Given the description of an element on the screen output the (x, y) to click on. 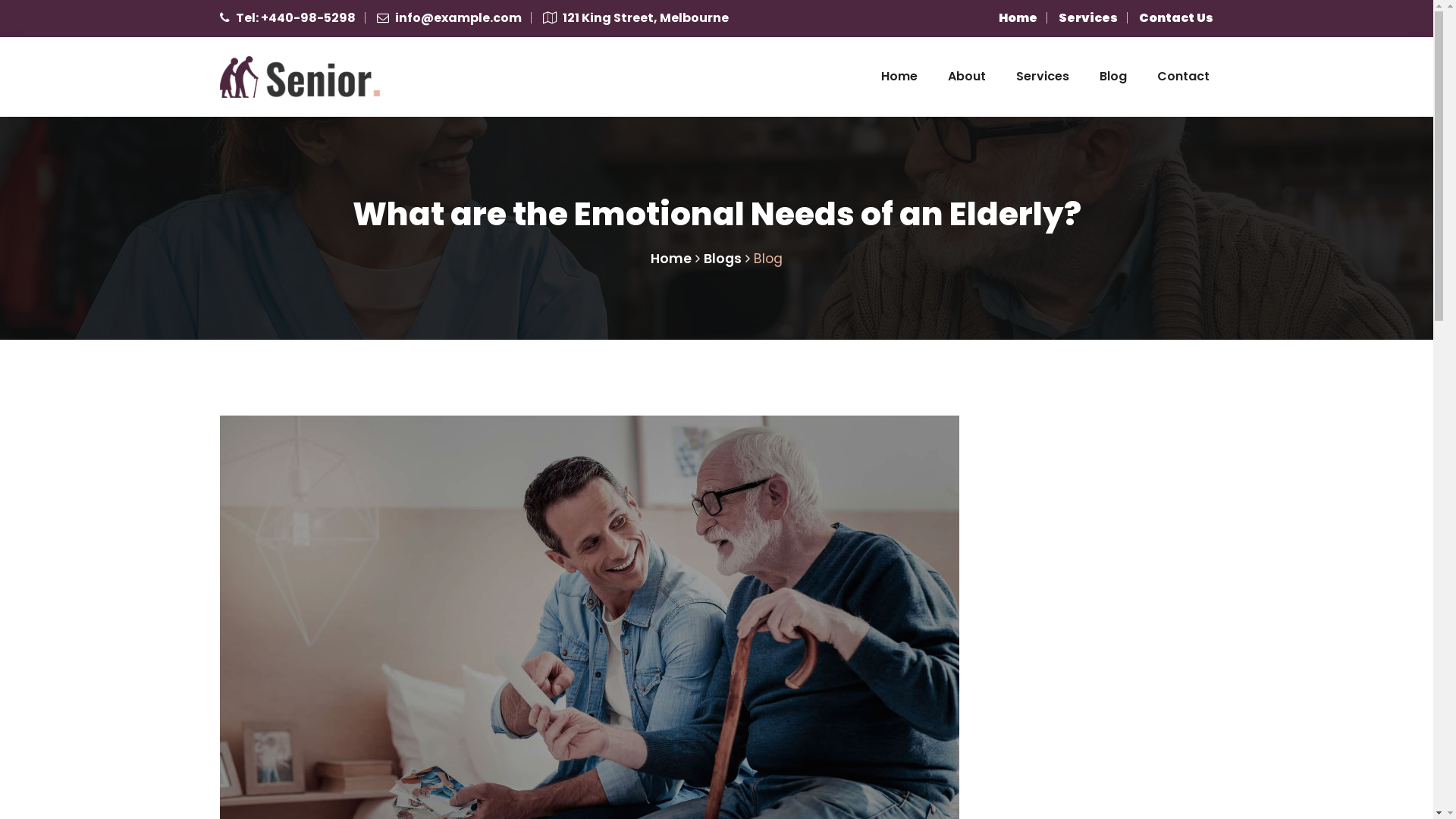
Home Element type: text (670, 258)
About Element type: text (966, 76)
Contact Us Element type: text (1176, 17)
Services Element type: text (1087, 17)
Contact Element type: text (1183, 76)
Services Element type: text (1042, 76)
Home Element type: text (899, 76)
Home Element type: text (1017, 17)
Blogs Element type: text (722, 258)
Blog Element type: text (1113, 76)
